Given the description of an element on the screen output the (x, y) to click on. 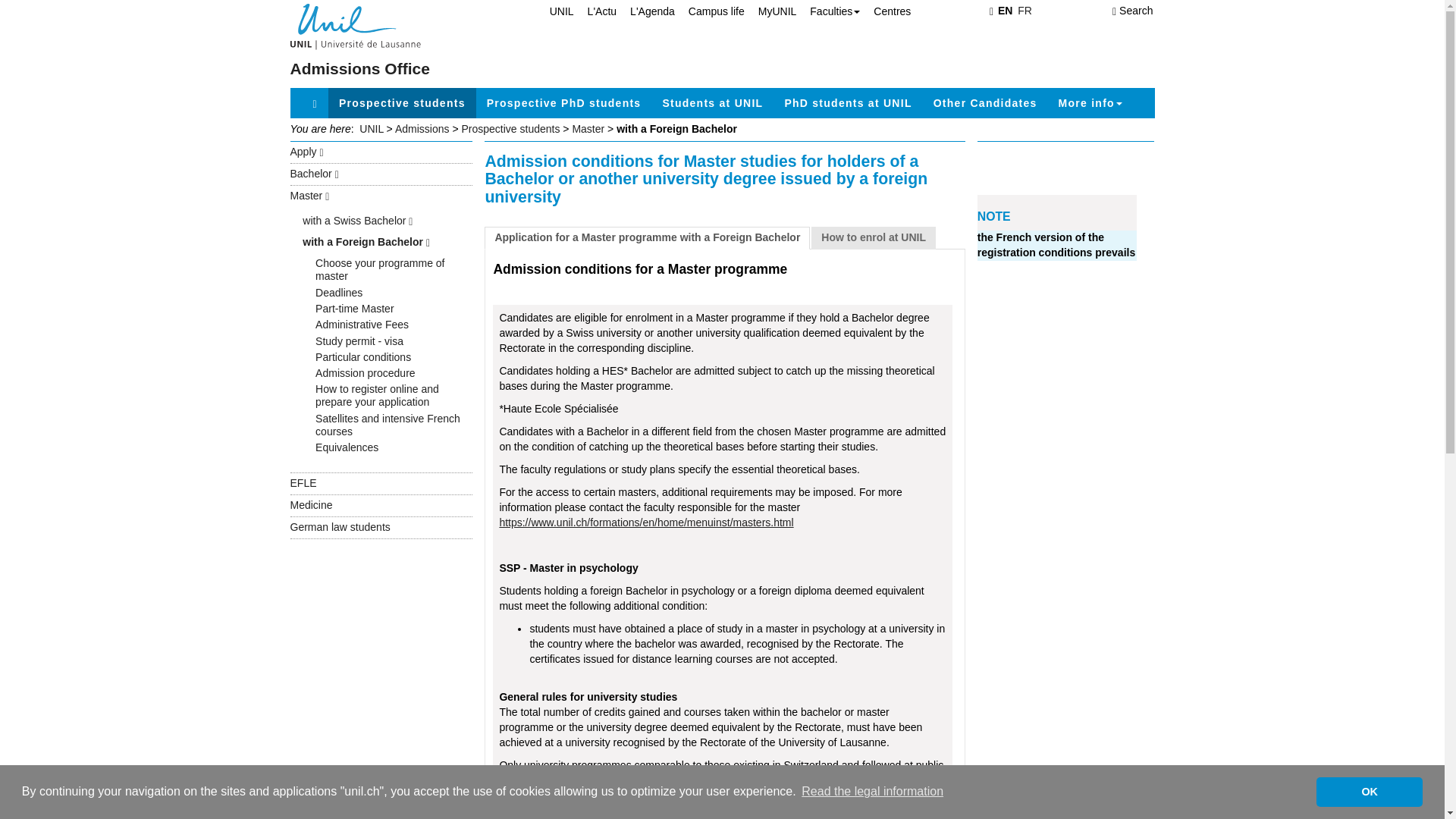
Admissions Office (359, 67)
Prospective PhD students (564, 102)
Campus life (709, 10)
Centres (885, 10)
Prospective students (402, 102)
MyUNIL (770, 10)
Faculties (828, 10)
UNIL (554, 10)
OK (1369, 791)
Read the legal information (871, 791)
L'Actu (594, 10)
PhD students at UNIL (847, 102)
Students at UNIL (711, 102)
L'Agenda (645, 10)
FR (1024, 10)
